Given the description of an element on the screen output the (x, y) to click on. 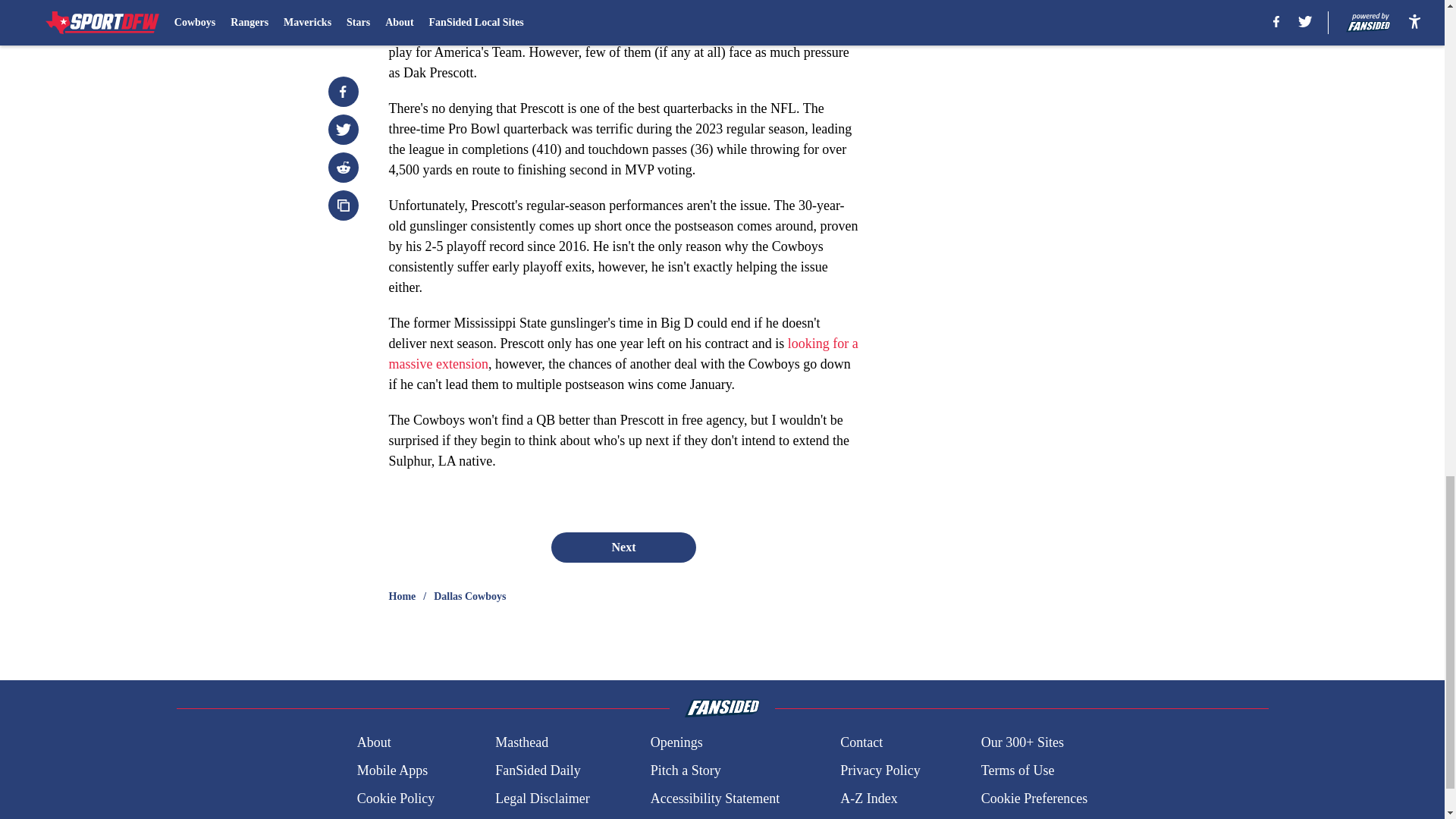
Cookie Policy (395, 798)
Contact (861, 742)
Openings (676, 742)
Home (401, 596)
A-Z Index (868, 798)
looking for a massive extension (622, 353)
Privacy Policy (880, 770)
Mobile Apps (392, 770)
Masthead (521, 742)
Accessibility Statement (714, 798)
About (373, 742)
Legal Disclaimer (542, 798)
FanSided Daily (537, 770)
Pitch a Story (685, 770)
Dallas Cowboys (469, 596)
